Given the description of an element on the screen output the (x, y) to click on. 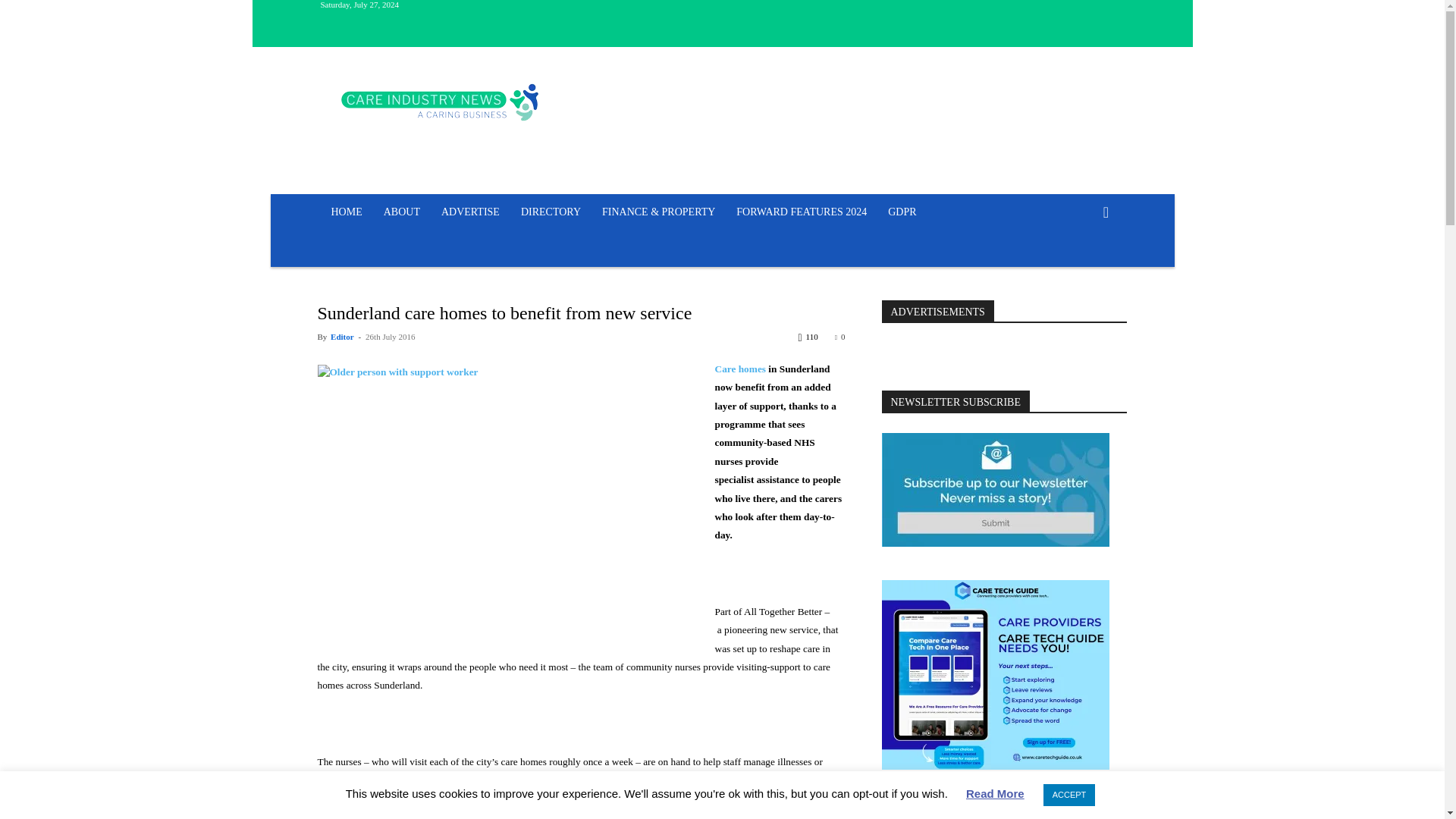
Care Industry News (439, 101)
health (516, 779)
HOME (346, 212)
Editor (341, 336)
GDPR (901, 212)
ADVERTISE (470, 212)
FORWARD FEATURES 2024 (801, 212)
ABOUT (401, 212)
Care homes (739, 368)
DIRECTORY (551, 212)
0 (839, 336)
